Given the description of an element on the screen output the (x, y) to click on. 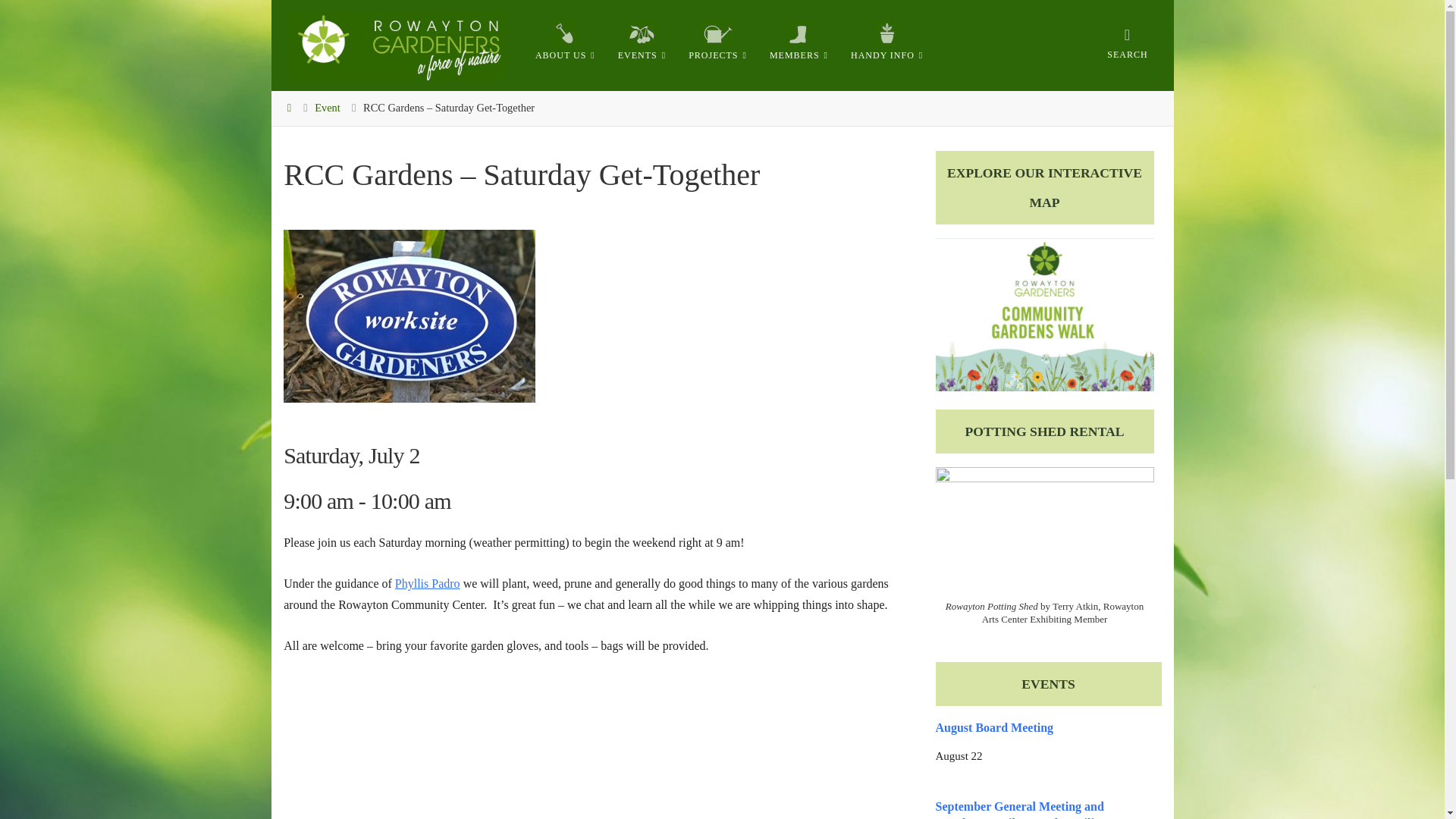
Rowayton Gardeners (396, 44)
Potting Shed Rental (1045, 529)
